Given the description of an element on the screen output the (x, y) to click on. 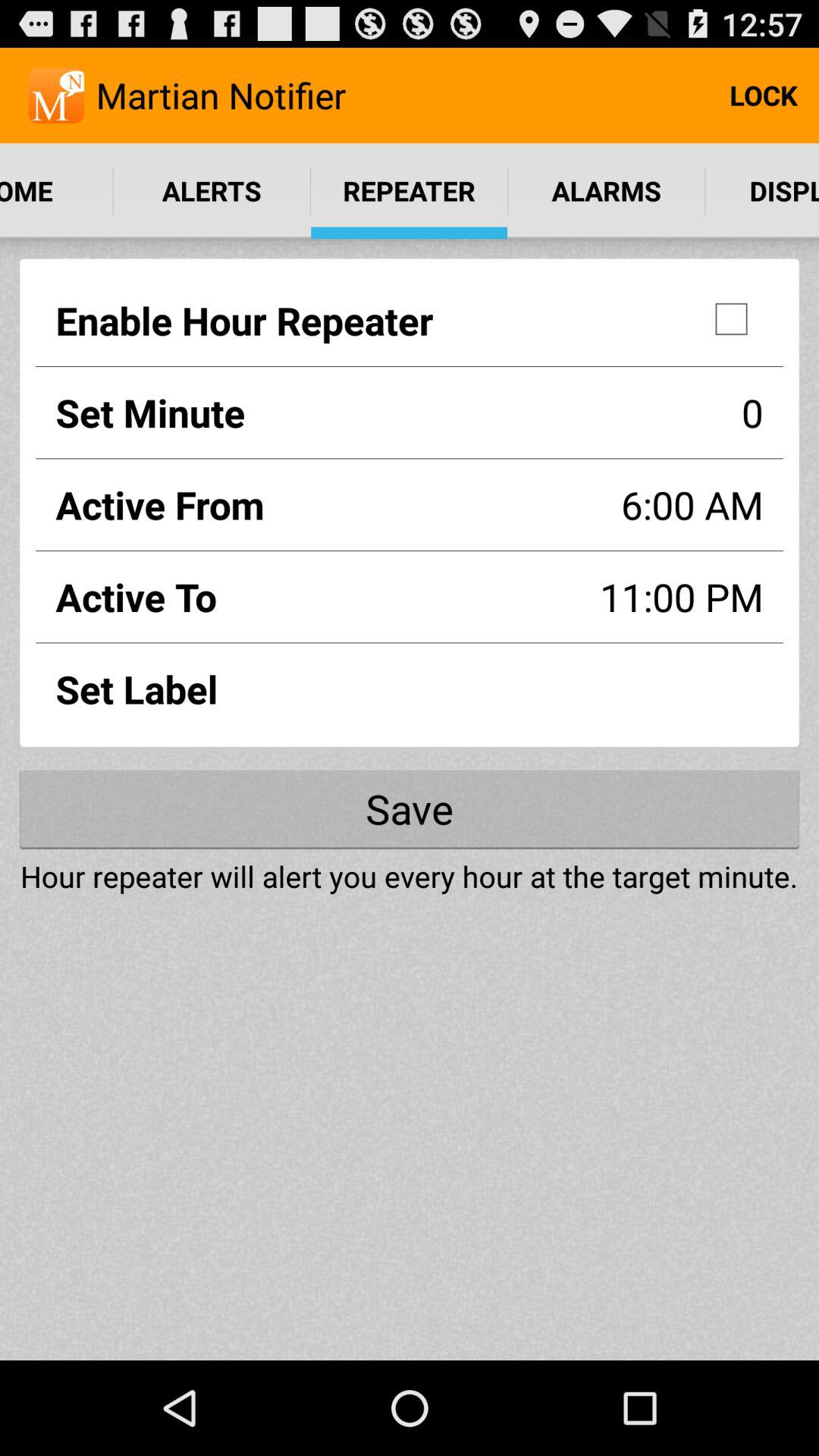
press icon below the set label icon (409, 808)
